Given the description of an element on the screen output the (x, y) to click on. 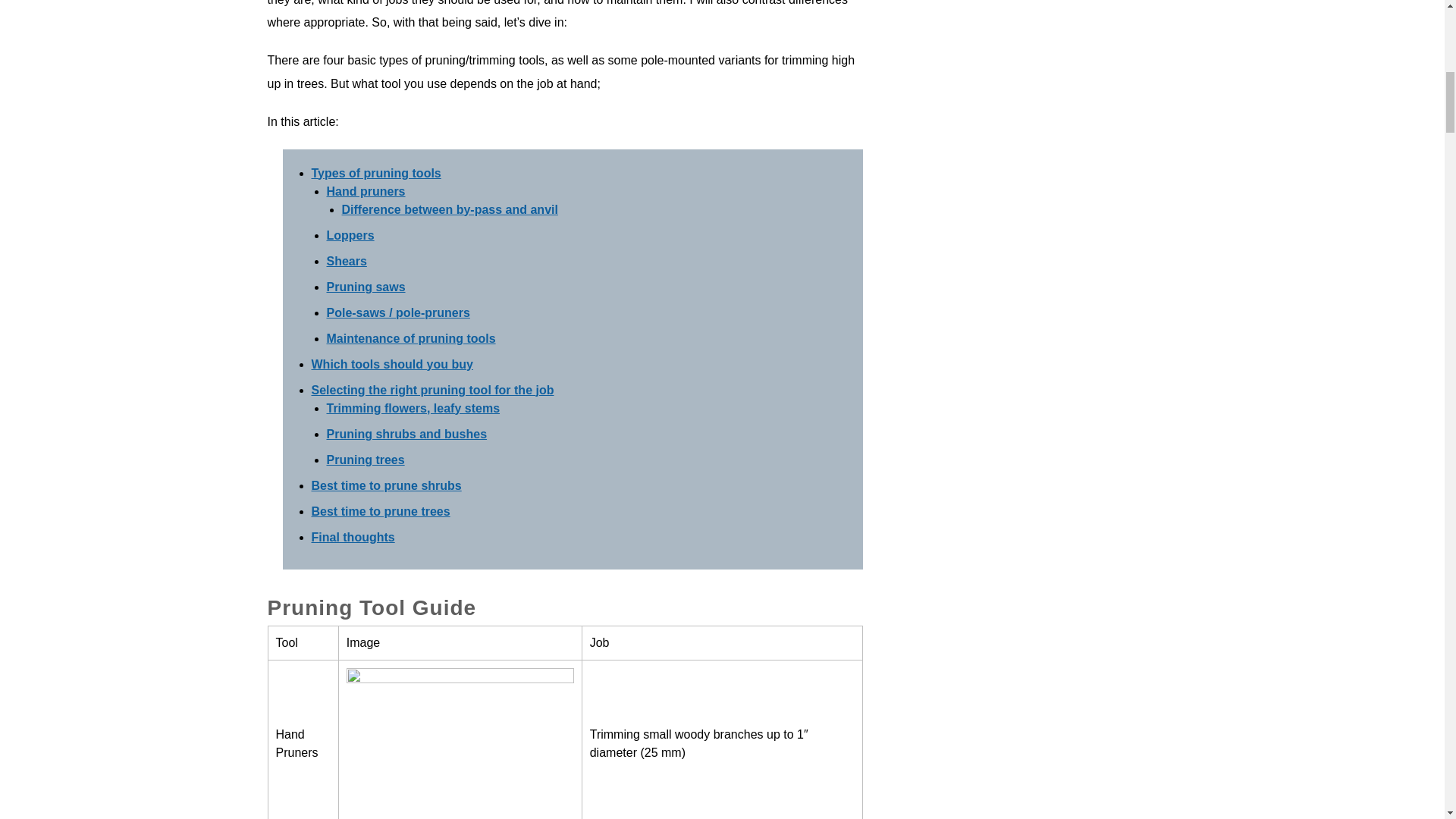
Difference between by-pass and anvil (448, 209)
Shears (346, 260)
Trimming flowers, leafy stems (412, 408)
Types of pruning tools (376, 173)
Maintenance of pruning tools (410, 338)
Loppers (350, 235)
Which tools should you buy (391, 364)
Selecting the right pruning tool for the job (432, 390)
Hand pruners (365, 191)
Pruning saws (365, 286)
